Given the description of an element on the screen output the (x, y) to click on. 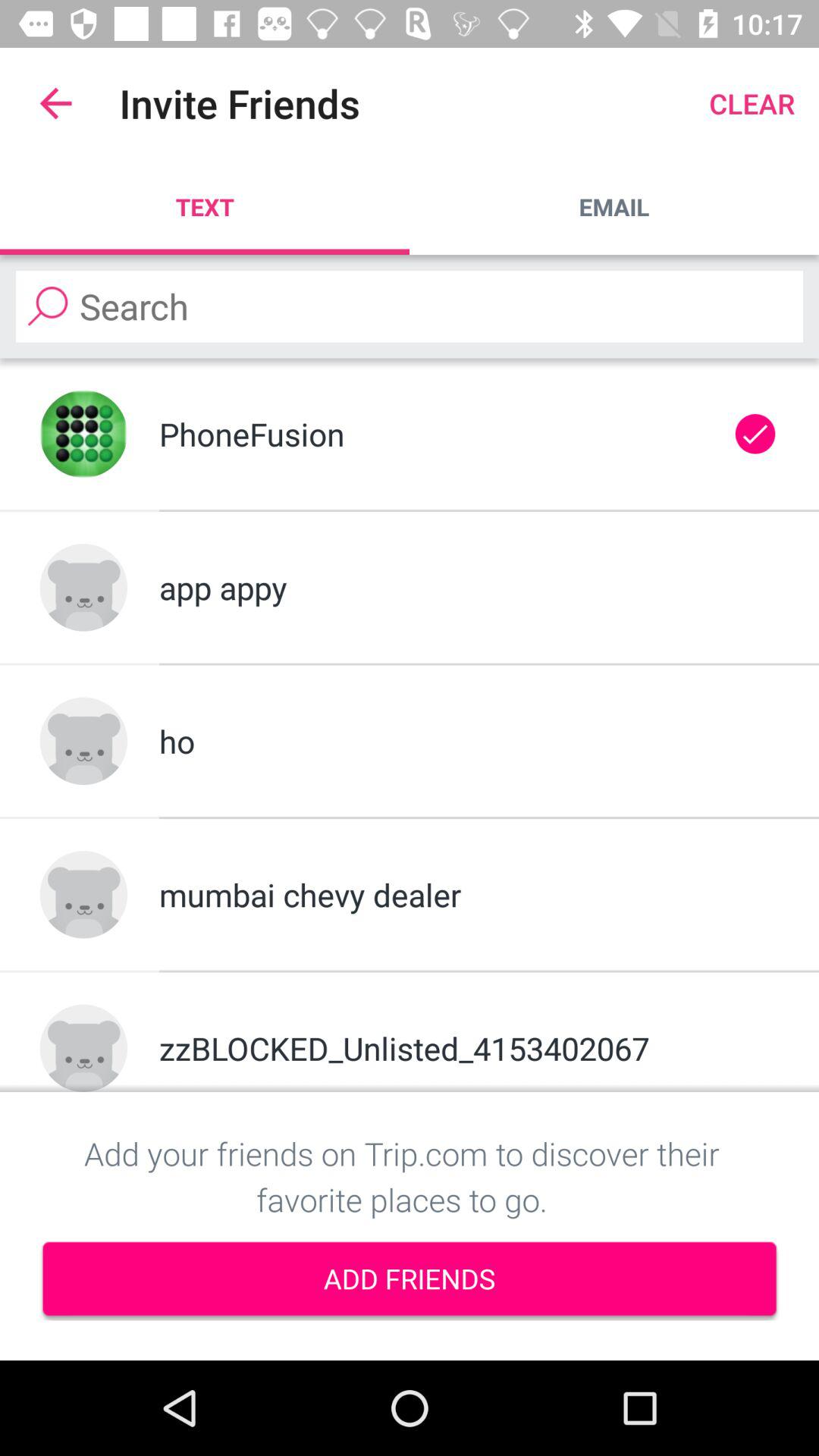
turn off the item to the right of the text item (614, 206)
